Given the description of an element on the screen output the (x, y) to click on. 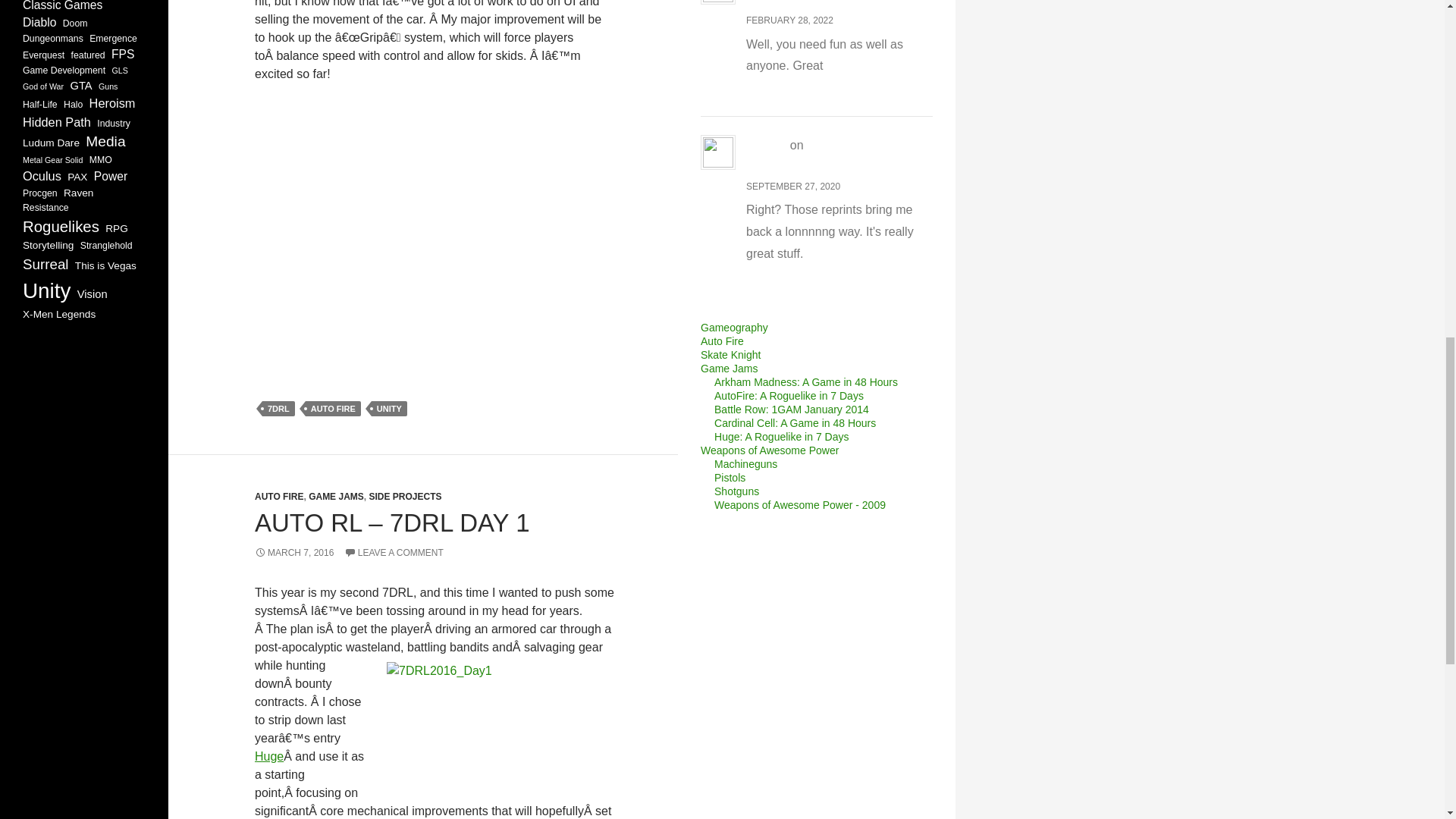
SIDE PROJECTS (404, 496)
7DRL (278, 408)
MARCH 7, 2016 (293, 552)
Huge (268, 756)
GAME JAMS (336, 496)
UNITY (389, 408)
LEAVE A COMMENT (393, 552)
AUTO FIRE (333, 408)
AUTO FIRE (278, 496)
